Given the description of an element on the screen output the (x, y) to click on. 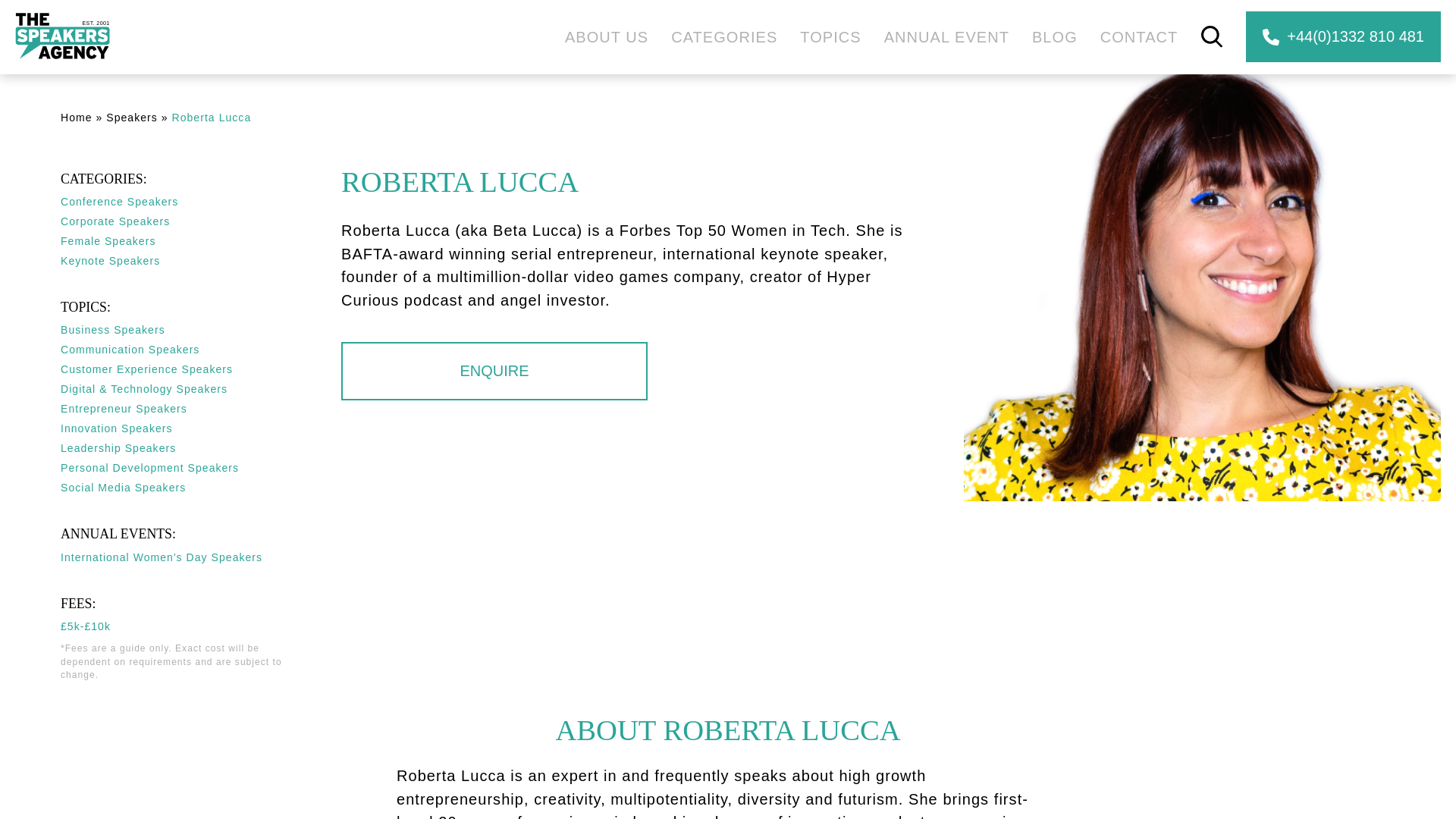
TOPICS (829, 36)
CATEGORIES (724, 36)
ABOUT ROBERTA LUCCA (727, 730)
ABOUT US (605, 36)
